Given the description of an element on the screen output the (x, y) to click on. 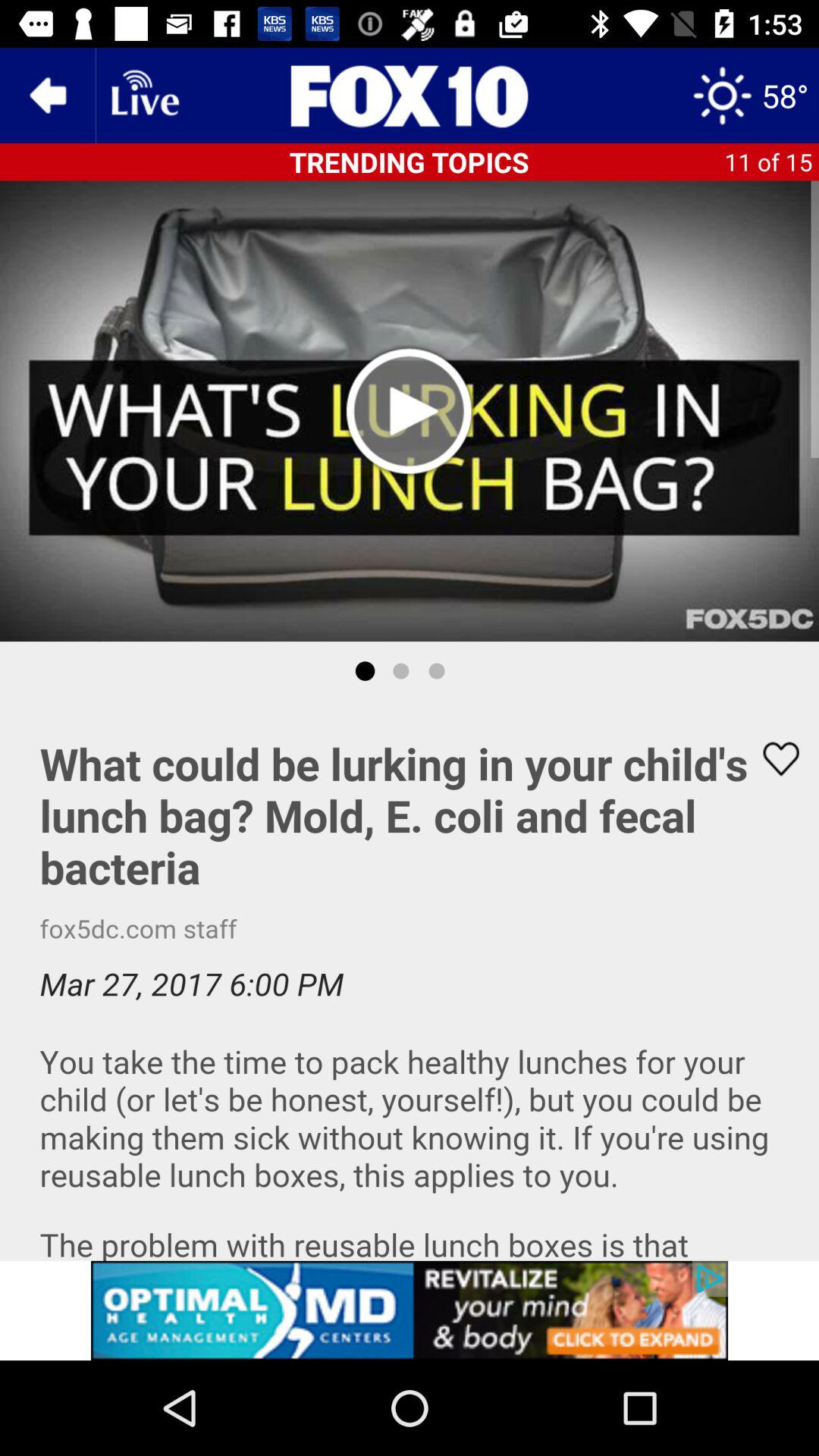
live (143, 95)
